Given the description of an element on the screen output the (x, y) to click on. 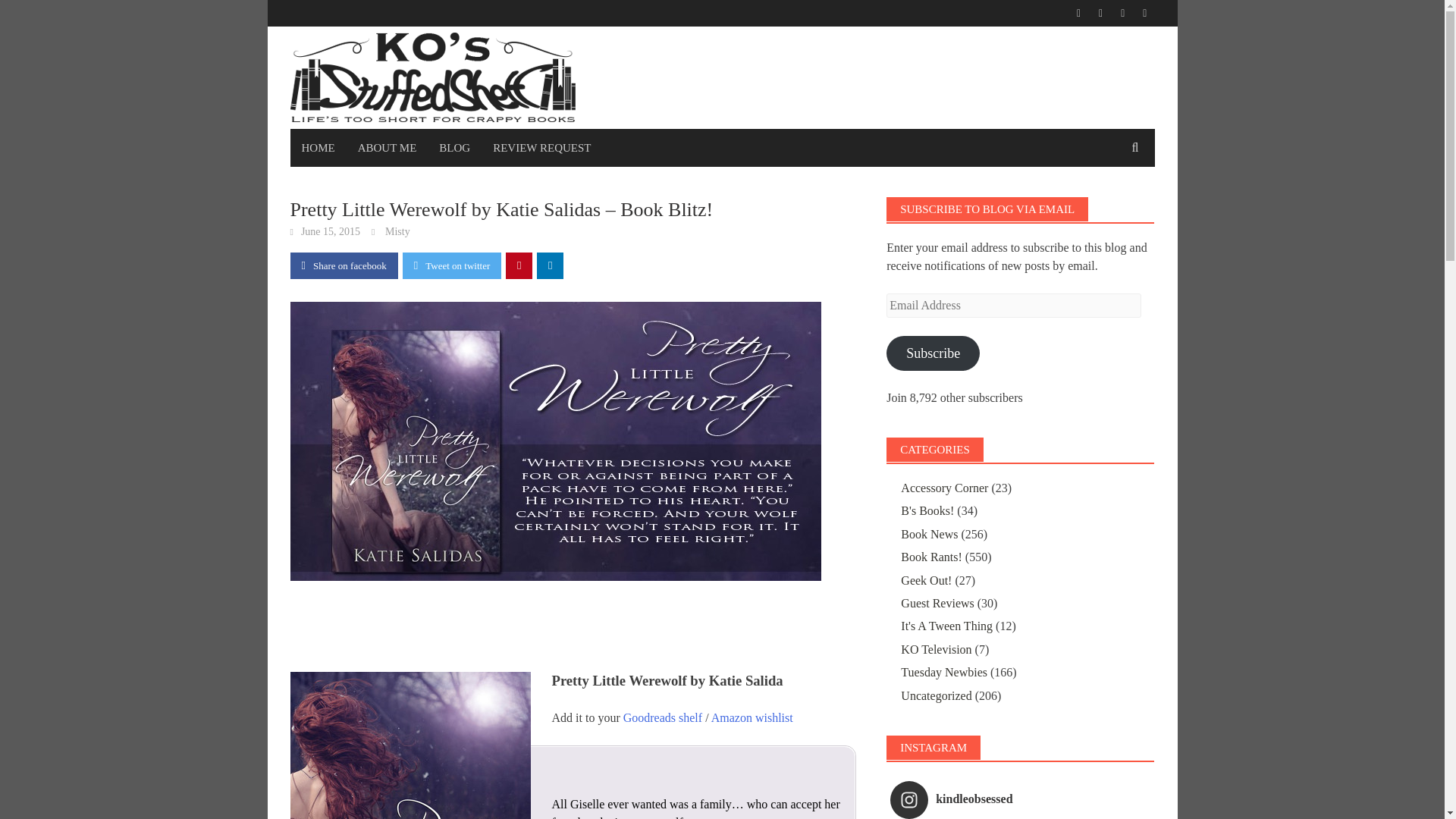
June 15, 2015 (330, 231)
BLOG (454, 147)
Share on facebook (343, 265)
REVIEW REQUEST (541, 147)
HOME (317, 147)
Amazon wishlist (752, 717)
Misty (397, 231)
Goodreads shelf (662, 717)
Tweet on twitter (452, 265)
ABOUT ME (387, 147)
